Given the description of an element on the screen output the (x, y) to click on. 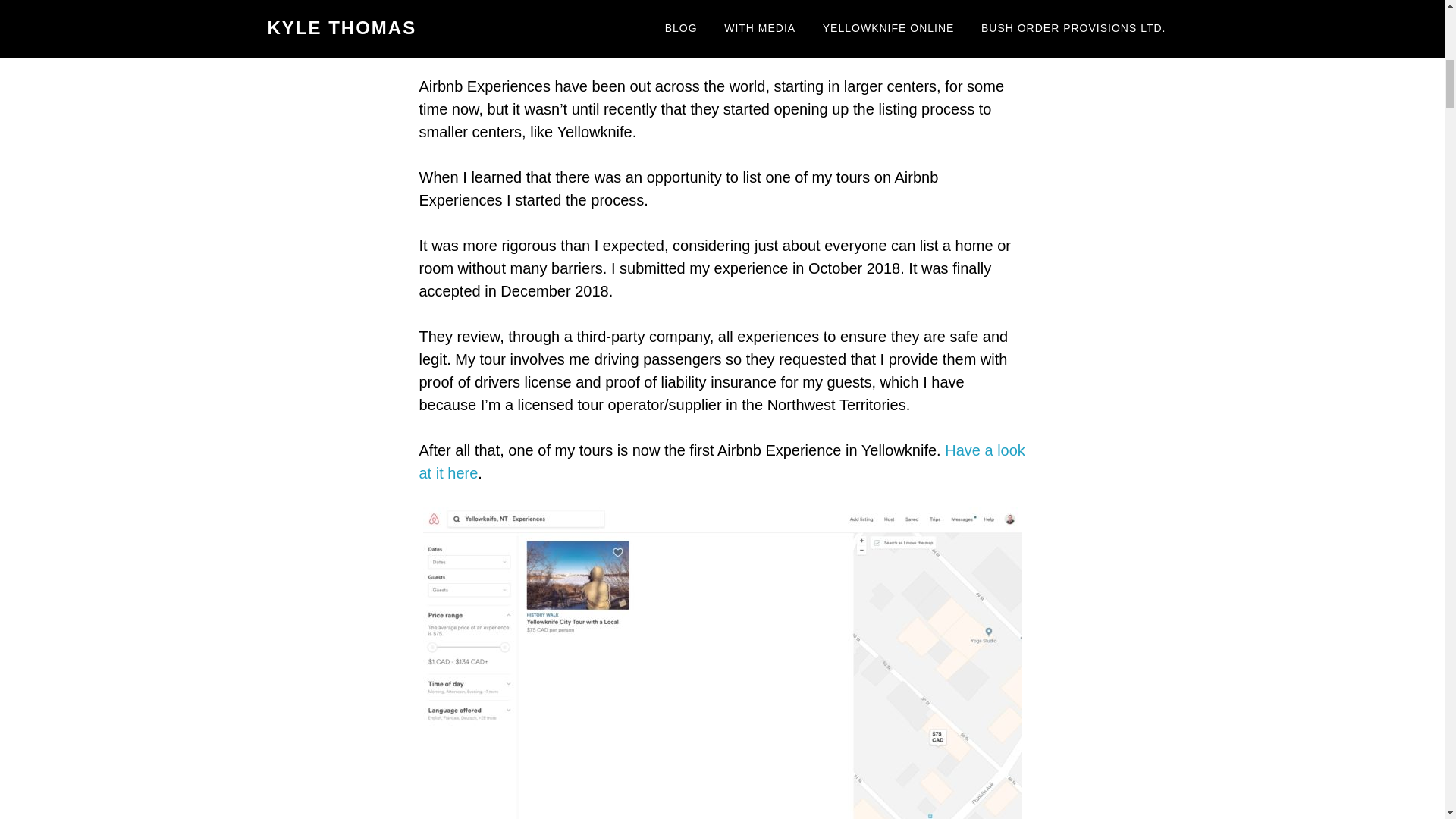
Have a look at it here (722, 461)
